Given the description of an element on the screen output the (x, y) to click on. 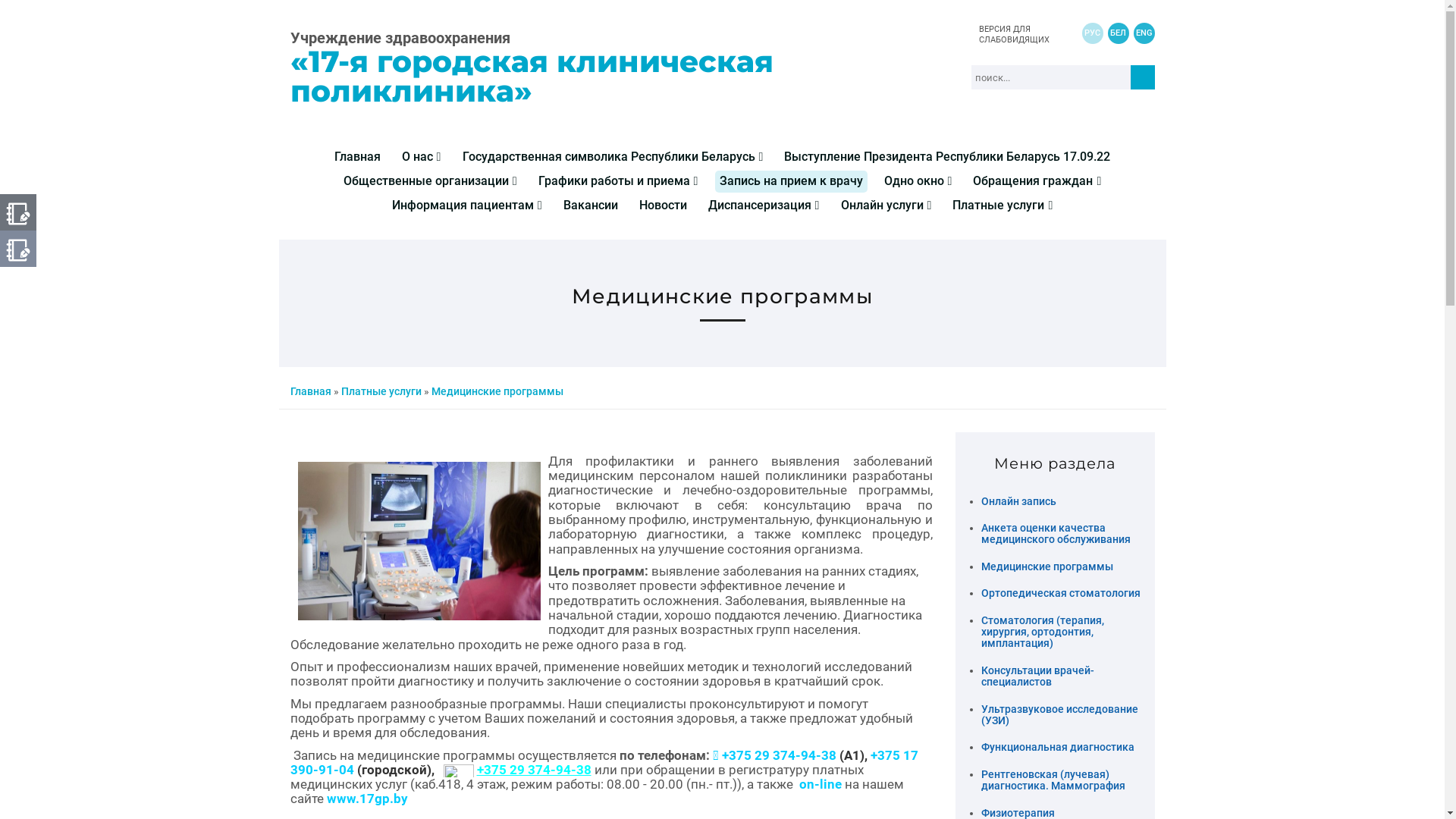
on-line Element type: text (820, 783)
375 17 390-91-04 Element type: text (603, 761)
www.17gp.by Element type: text (366, 798)
+375 29 374-94-38 Element type: text (533, 769)
ENG Element type: text (1143, 40)
+ Element type: text (873, 754)
